Given the description of an element on the screen output the (x, y) to click on. 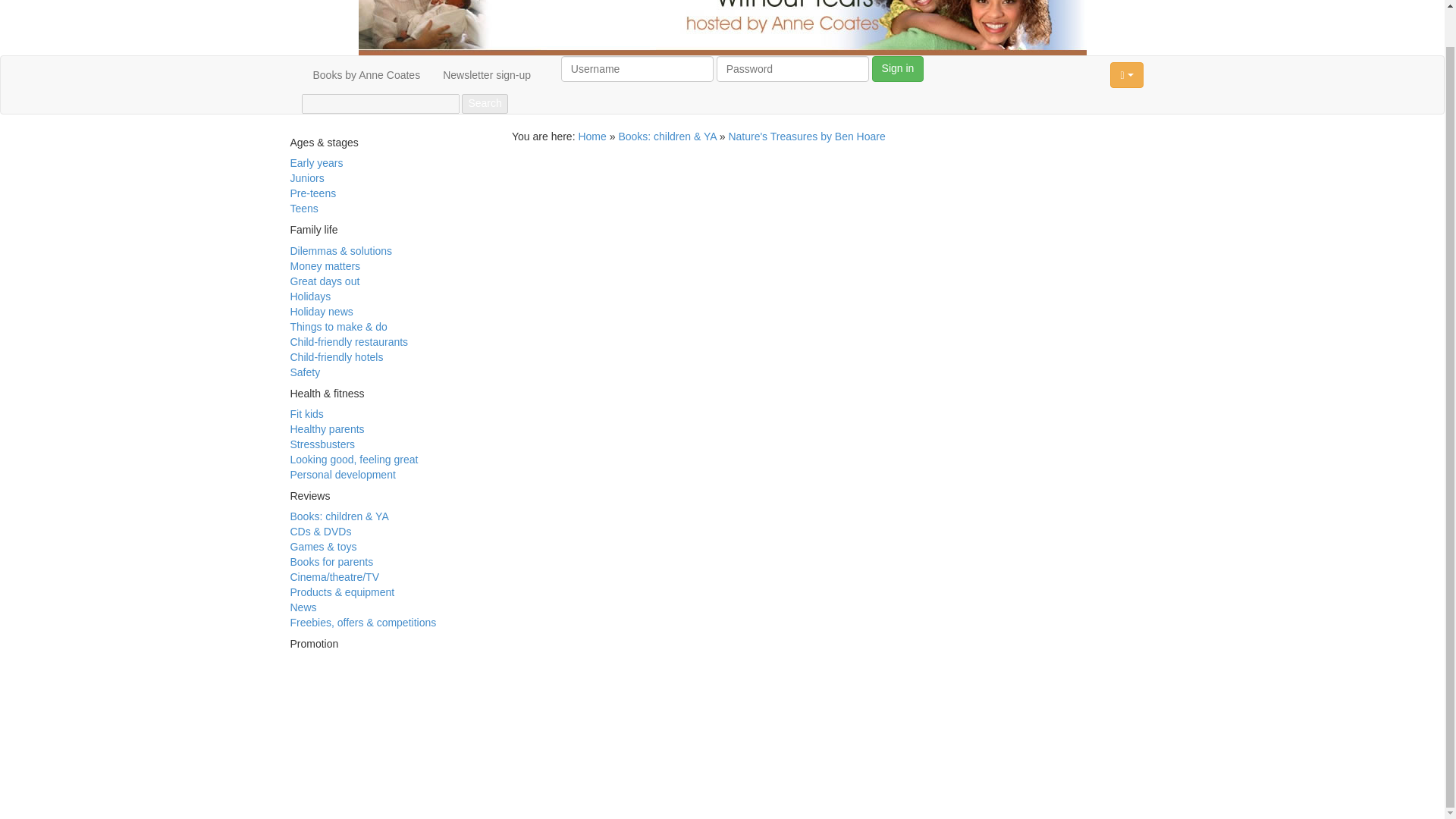
Teens (303, 208)
Books for parents (330, 562)
Newsletter sign-up (485, 75)
Nature's Treasures by Ben Hoare (806, 136)
Healthy parents (326, 428)
Great days out (324, 281)
Personal development (341, 474)
Fit kids (306, 413)
Holiday news (320, 311)
Juniors (306, 177)
